Given the description of an element on the screen output the (x, y) to click on. 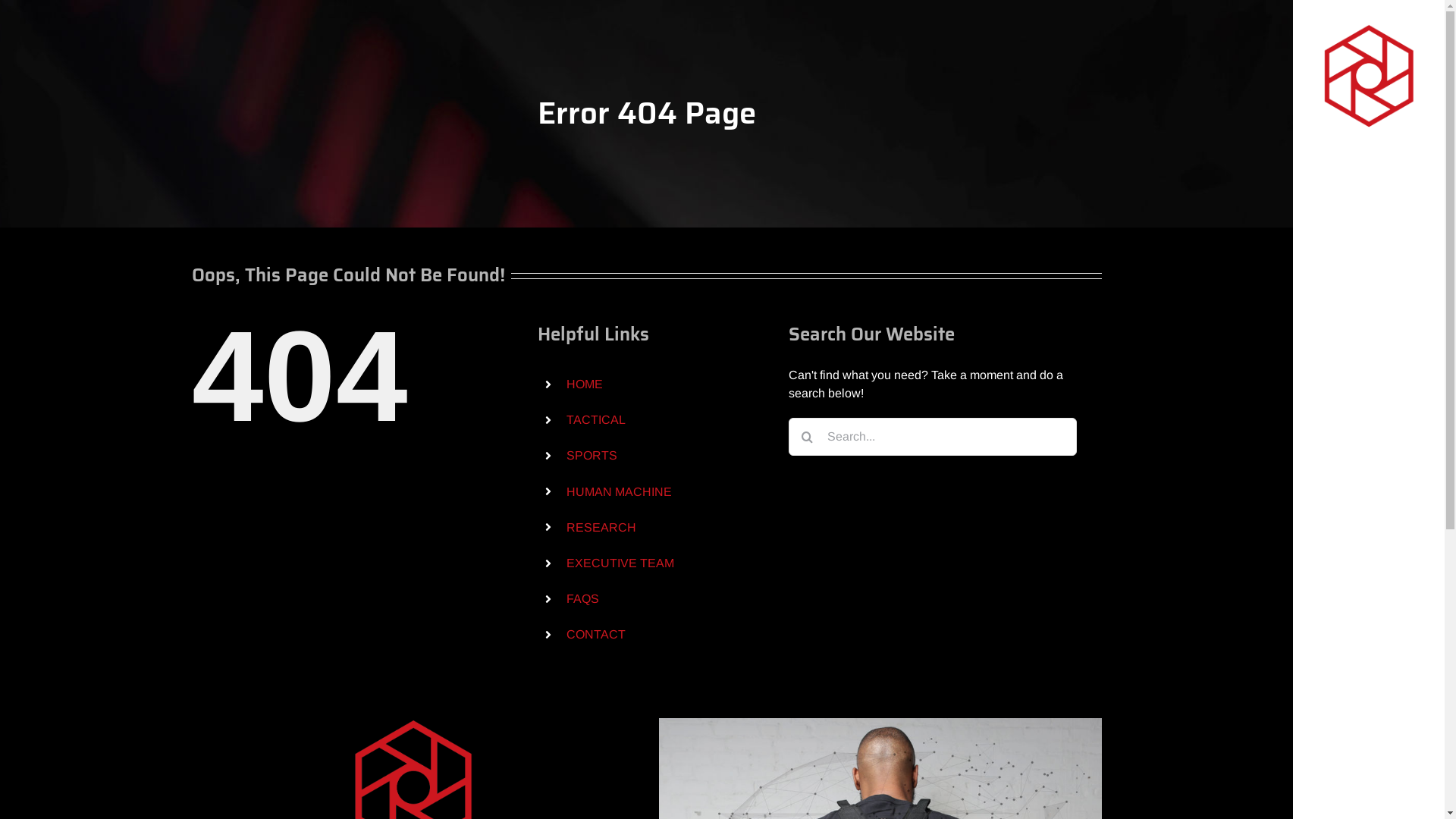
SPORTS Element type: text (591, 454)
EXECUTIVE TEAM Element type: text (1368, 300)
FAQS Element type: text (582, 598)
RESEARCH Element type: text (1368, 280)
HUMAN MACHINE Element type: text (1368, 260)
EXECUTIVE TEAM Element type: text (620, 562)
HOME Element type: text (584, 383)
Twitter Element type: text (1355, 413)
HOME Element type: text (1368, 201)
FAQS Element type: text (1368, 319)
CONTACT Element type: text (595, 633)
SPORTS Element type: text (1368, 241)
HUMAN MACHINE Element type: text (618, 491)
TACTICAL Element type: text (595, 419)
RESEARCH Element type: text (601, 526)
Facebook Element type: text (1341, 385)
TACTICAL Element type: text (1368, 221)
YouTube Element type: text (1382, 413)
CONTACT Element type: text (1368, 339)
Instagram Element type: text (1368, 385)
LinkedIn Element type: text (1396, 385)
